Given the description of an element on the screen output the (x, y) to click on. 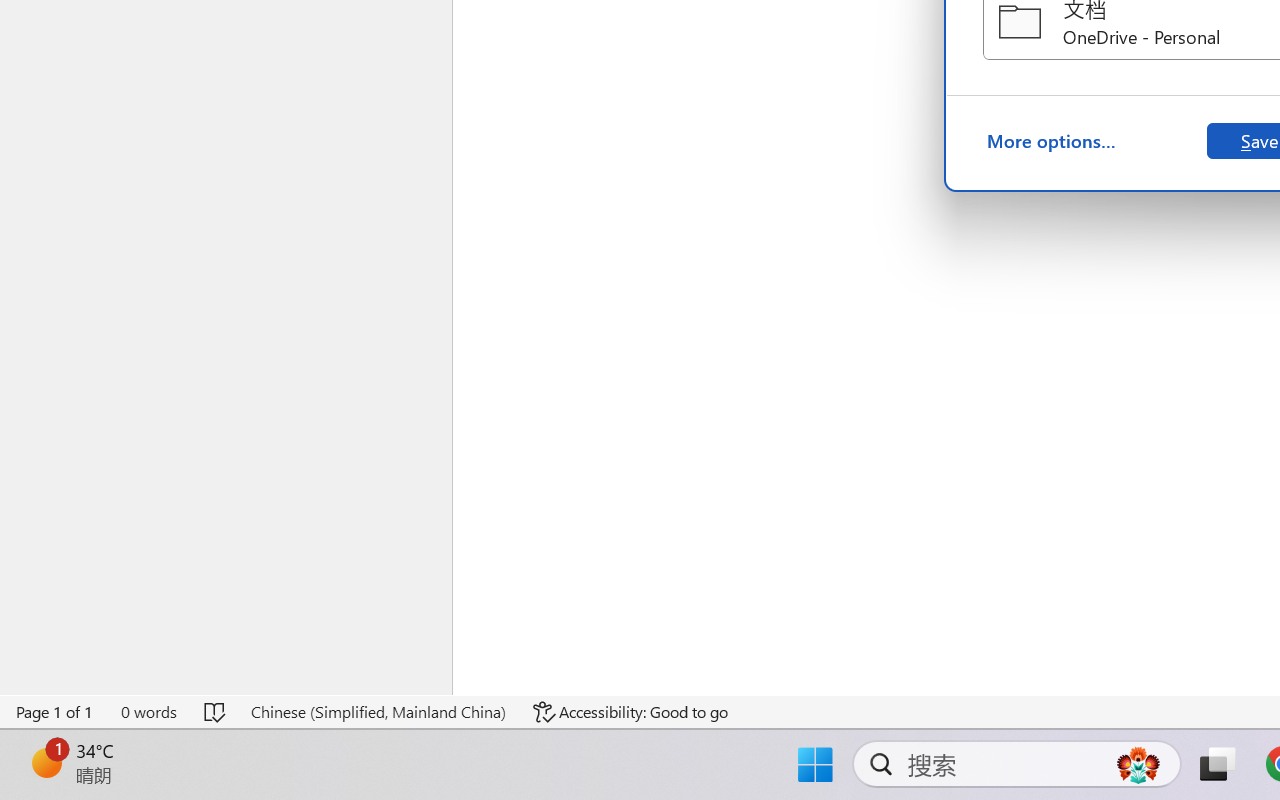
Language Chinese (Simplified, Mainland China) (378, 712)
